Given the description of an element on the screen output the (x, y) to click on. 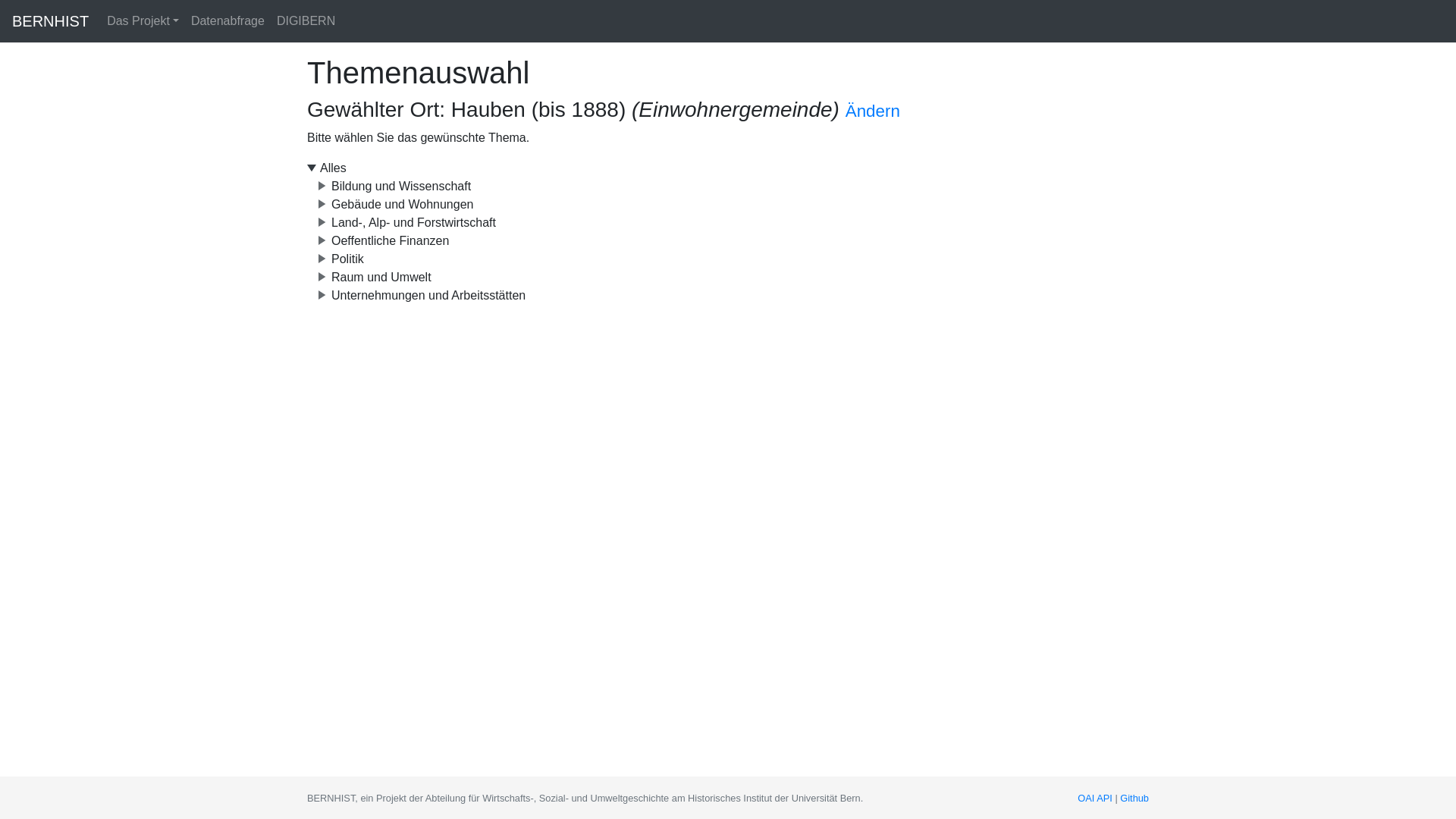
OAI API Element type: text (1094, 797)
BERNHIST Element type: text (50, 21)
Github Element type: text (1134, 797)
Datenabfrage Element type: text (227, 21)
Das Projekt Element type: text (142, 21)
DIGIBERN Element type: text (305, 21)
